Given the description of an element on the screen output the (x, y) to click on. 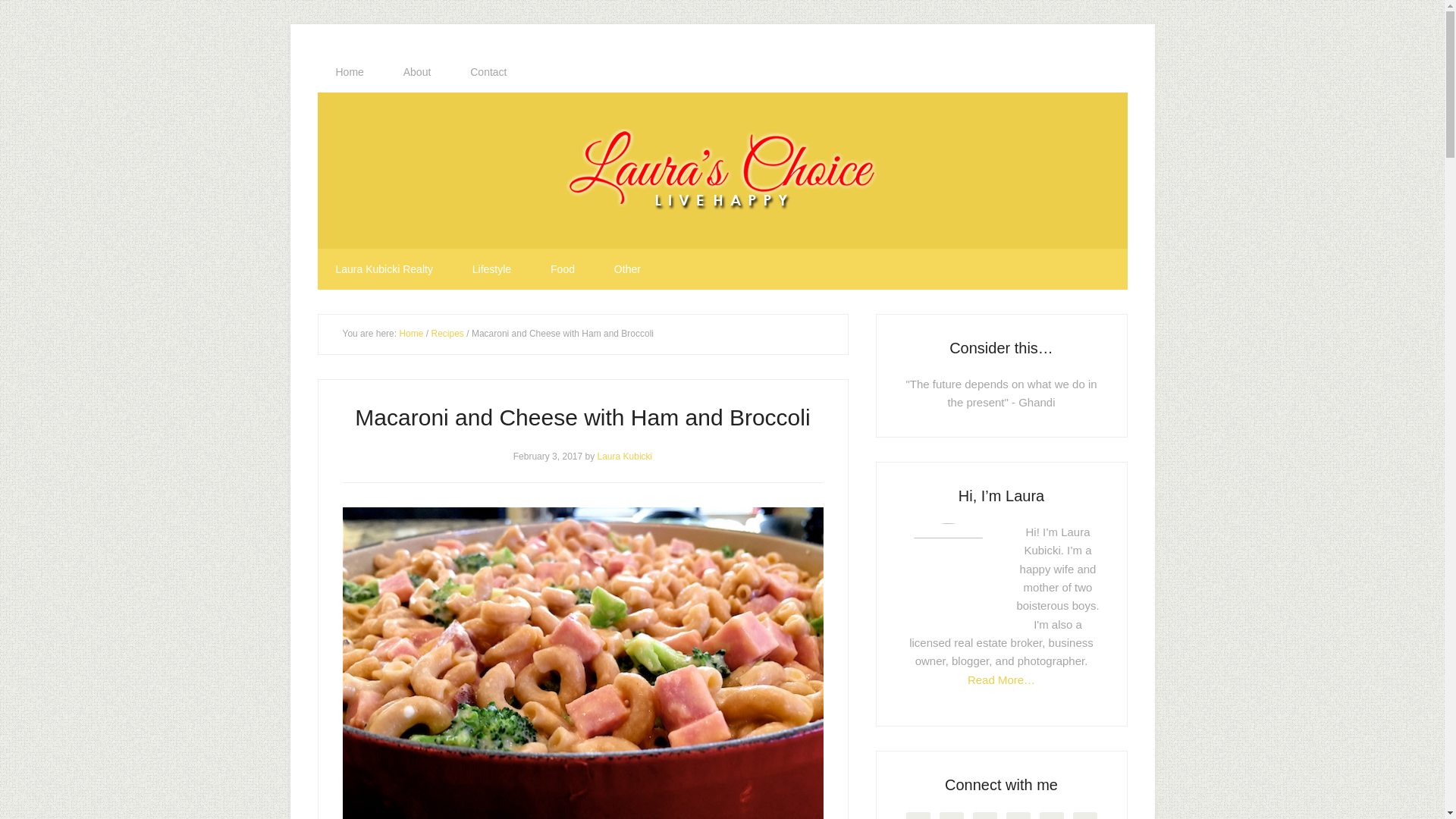
Contact (487, 71)
Laura Kubicki Realty (383, 268)
Home (410, 333)
Home (349, 71)
Recipes (446, 333)
Laura Kubicki (624, 455)
Other (627, 268)
Food (562, 268)
About (417, 71)
Lifestyle (491, 268)
Lauras Choice (721, 170)
